Given the description of an element on the screen output the (x, y) to click on. 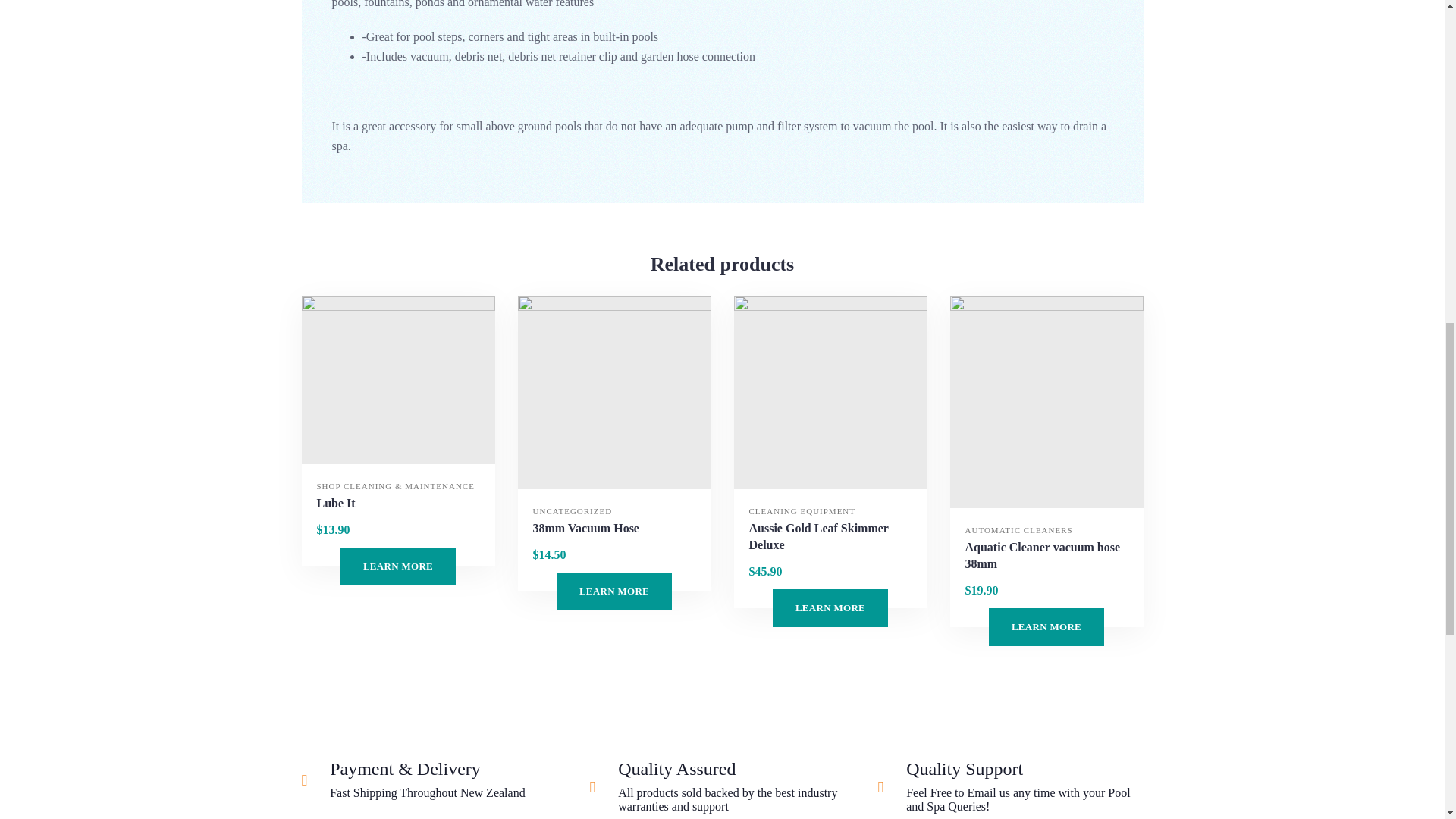
38mm Vacuum Hose (585, 528)
Lube It (398, 379)
Aussie Gold Leaf Skimmer Deluxe (830, 391)
Lube It (336, 503)
Aussie Gold Leaf Skimmer Deluxe (830, 536)
Aquatic Cleaner vacuum hose 38mm (1044, 555)
Aquatic Cleaner vacuum hose 38mm (1045, 401)
38mm Vacuum Hose (613, 391)
